Given the description of an element on the screen output the (x, y) to click on. 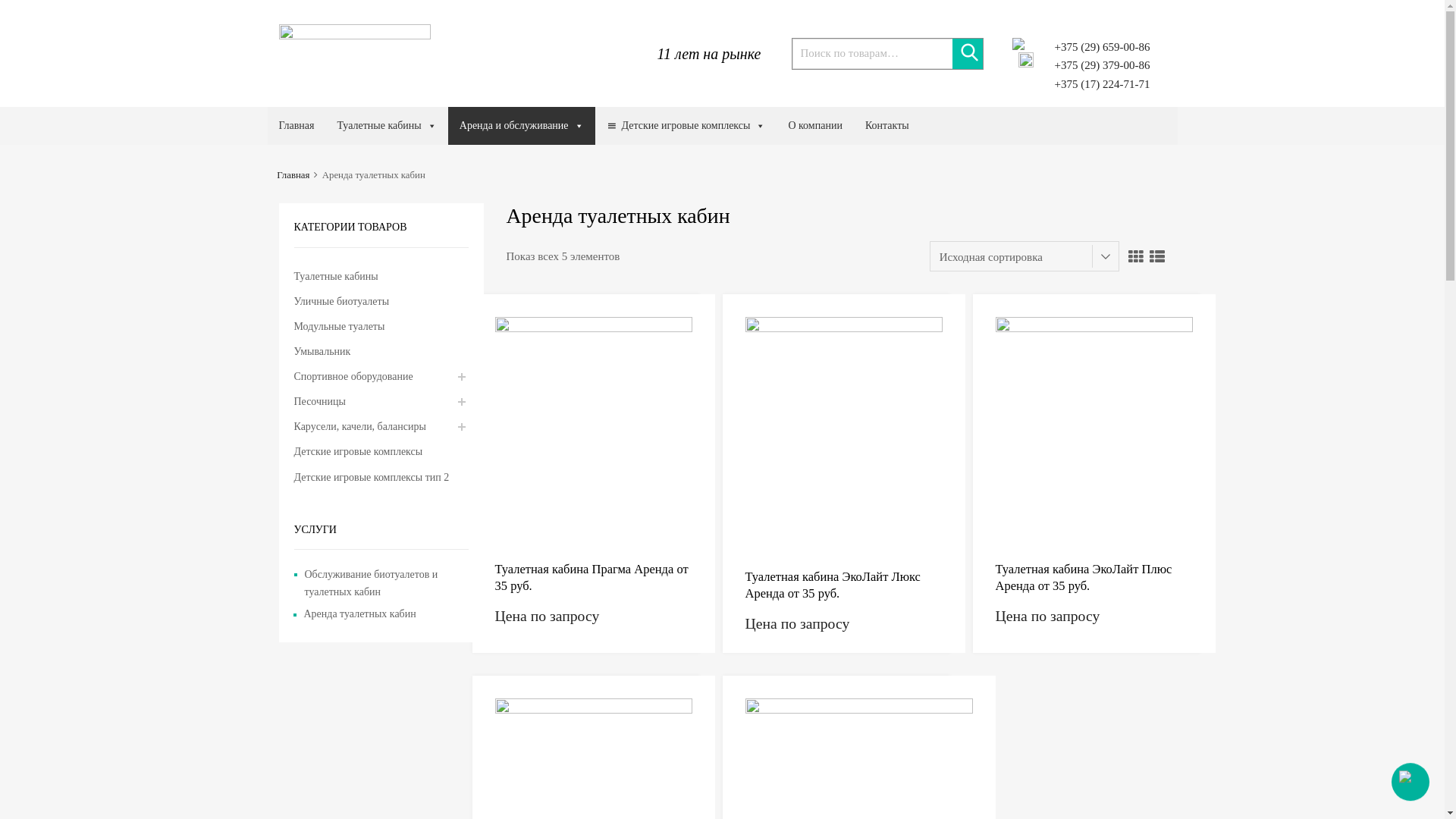
Grid View Element type: hover (1135, 255)
+375 (17) 224-71-71 Element type: text (1095, 84)
+375 (29) 379-00-86 Element type: text (1095, 65)
+375 (29) 659-00-86 Element type: text (1095, 46)
Ges Element type: hover (354, 35)
List View Element type: hover (1156, 255)
